Given the description of an element on the screen output the (x, y) to click on. 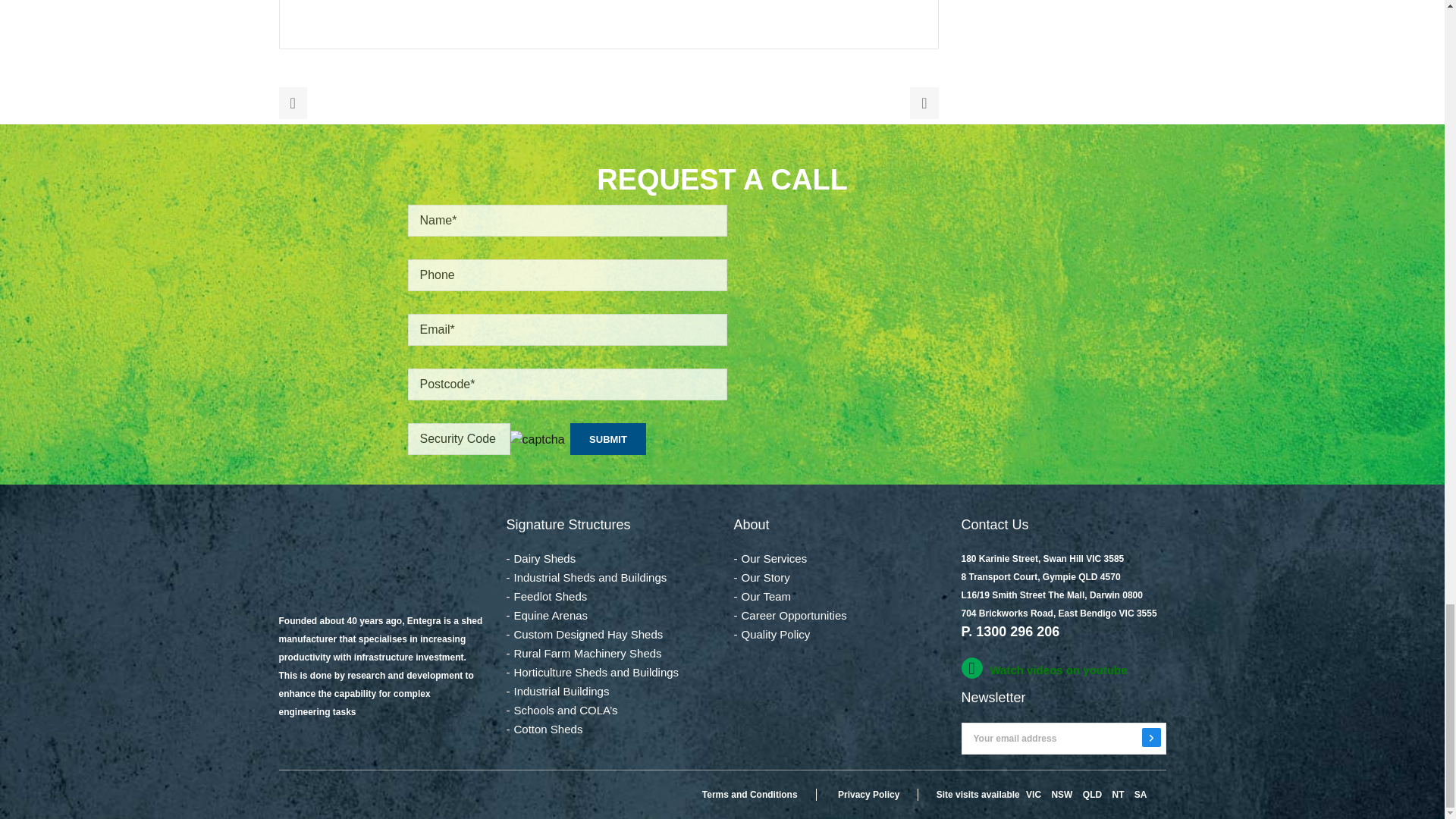
Sign up (1150, 737)
SUBMIT (608, 439)
